Given the description of an element on the screen output the (x, y) to click on. 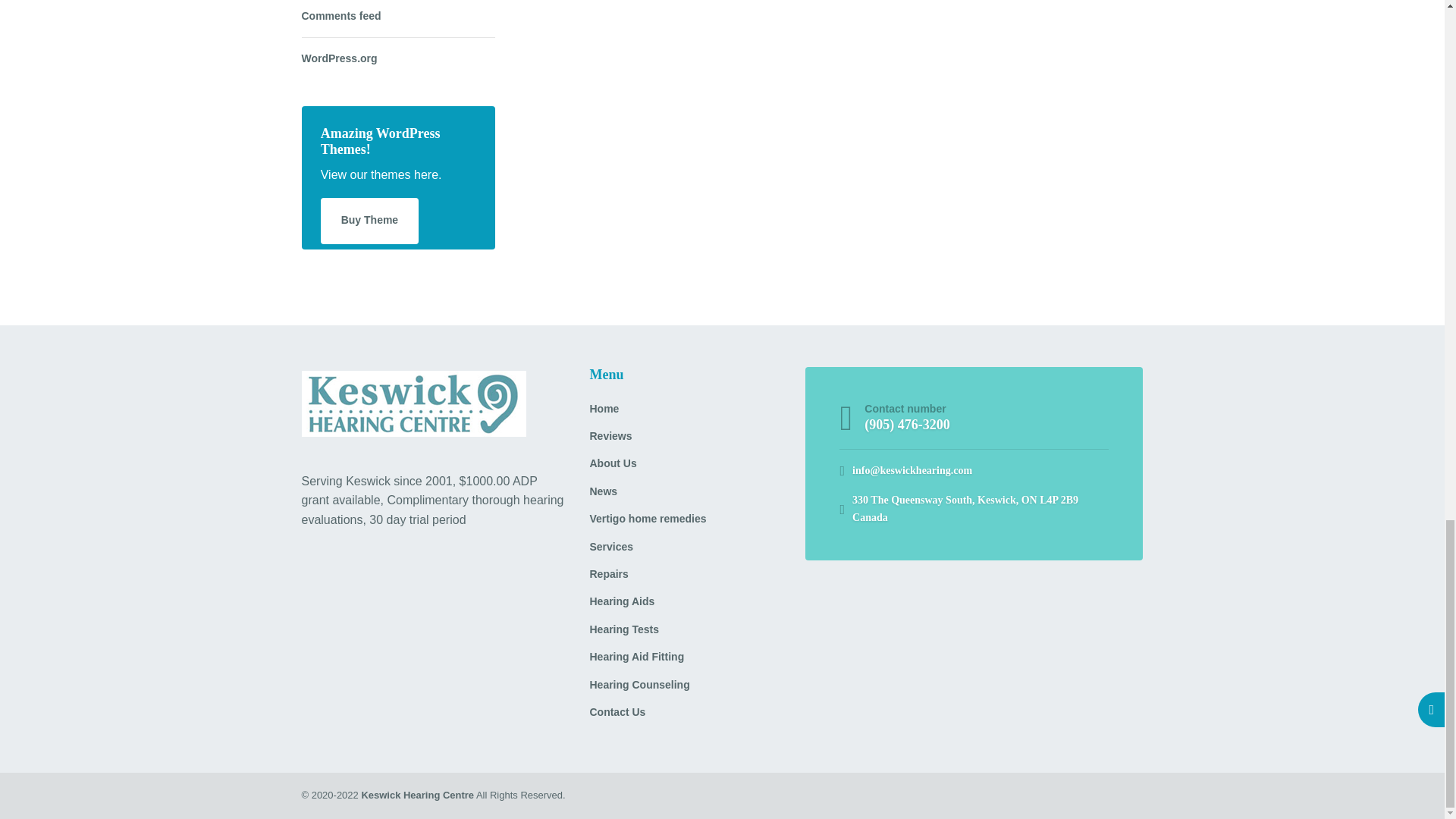
WordPress.org (339, 57)
Comments feed (341, 18)
